Given the description of an element on the screen output the (x, y) to click on. 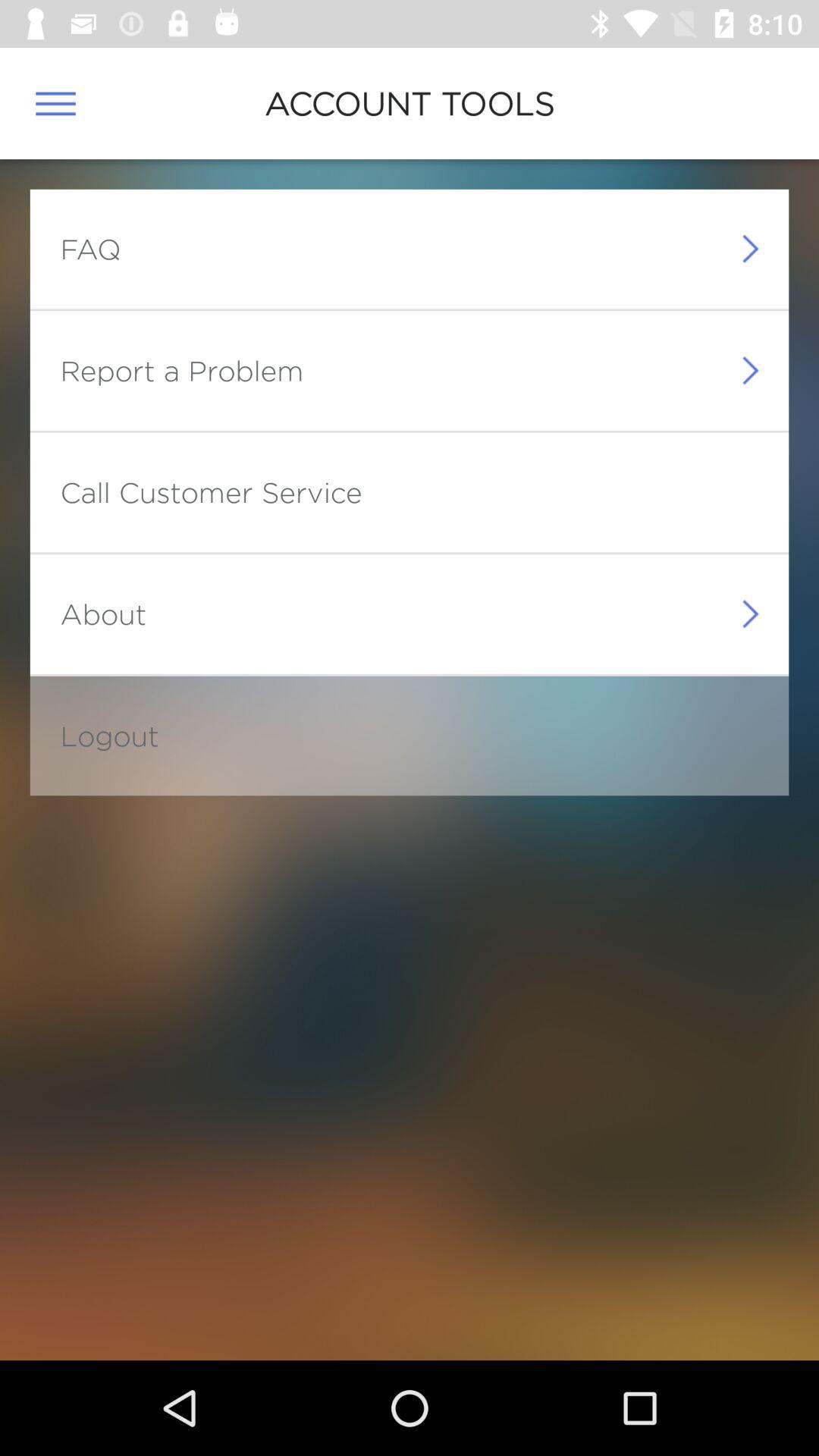
click the logout icon (109, 735)
